Given the description of an element on the screen output the (x, y) to click on. 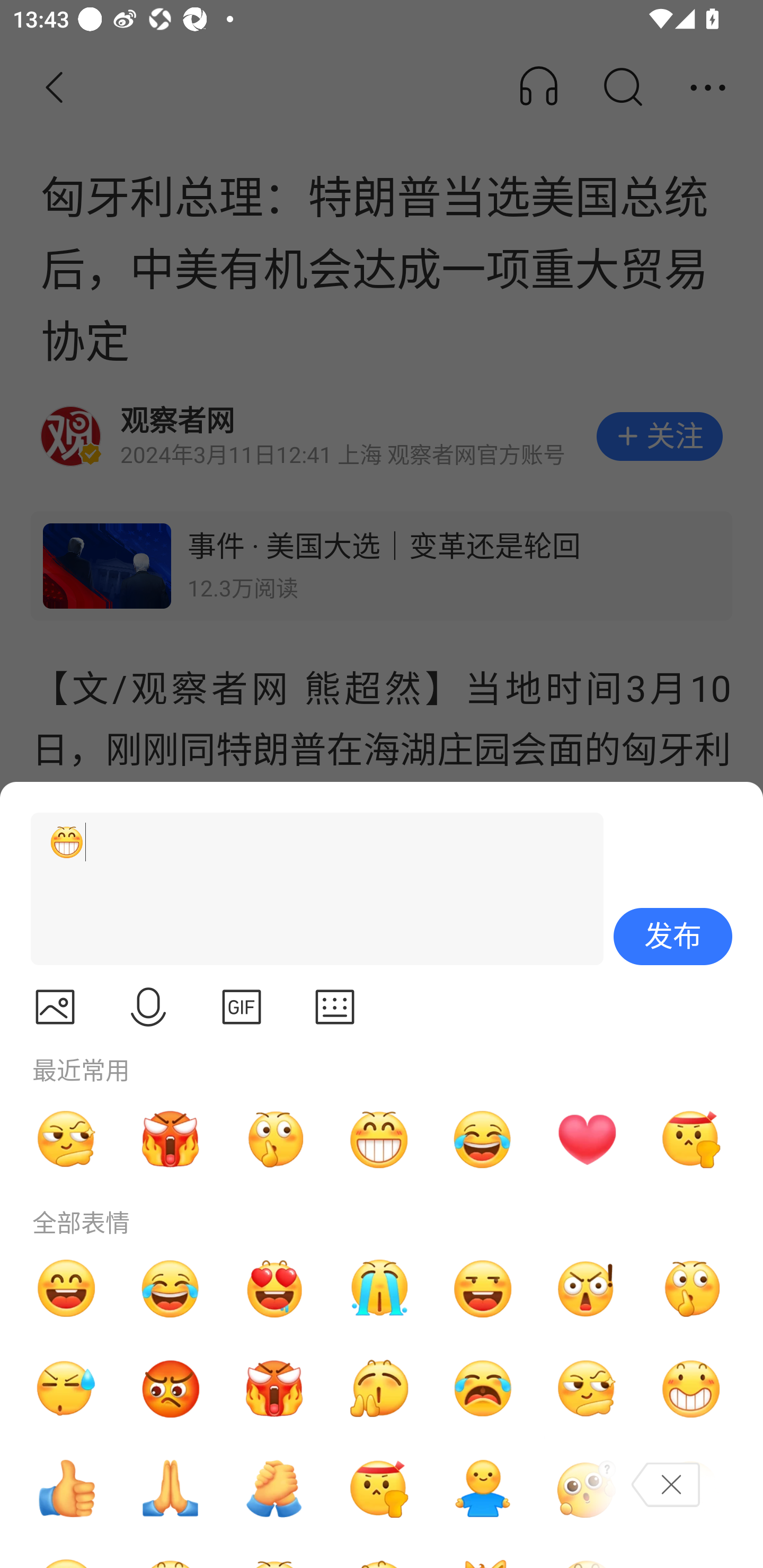
[呲牙] (308, 888)
发布 (672, 936)
 (54, 1007)
 (148, 1007)
 (241, 1007)
 (334, 1007)
机智 (66, 1138)
愤怒 (170, 1138)
嘘 (274, 1138)
呲牙 (378, 1138)
哭笑 (482, 1138)
心 (586, 1138)
奋斗 (690, 1138)
哈哈 (66, 1288)
哭笑 (170, 1288)
喜欢 (274, 1288)
哭 (378, 1288)
嘿嘿 (482, 1288)
吃惊 (586, 1288)
嘘 (690, 1288)
汗 (66, 1389)
生气 (170, 1389)
愤怒 (274, 1389)
喝彩 (378, 1389)
抓狂 (482, 1389)
机智 (586, 1389)
坏笑 (690, 1389)
点赞 (66, 1488)
缅怀 (170, 1488)
加油 (274, 1488)
奋斗 (378, 1488)
抱抱 (482, 1488)
疑问 (586, 1488)
